Given the description of an element on the screen output the (x, y) to click on. 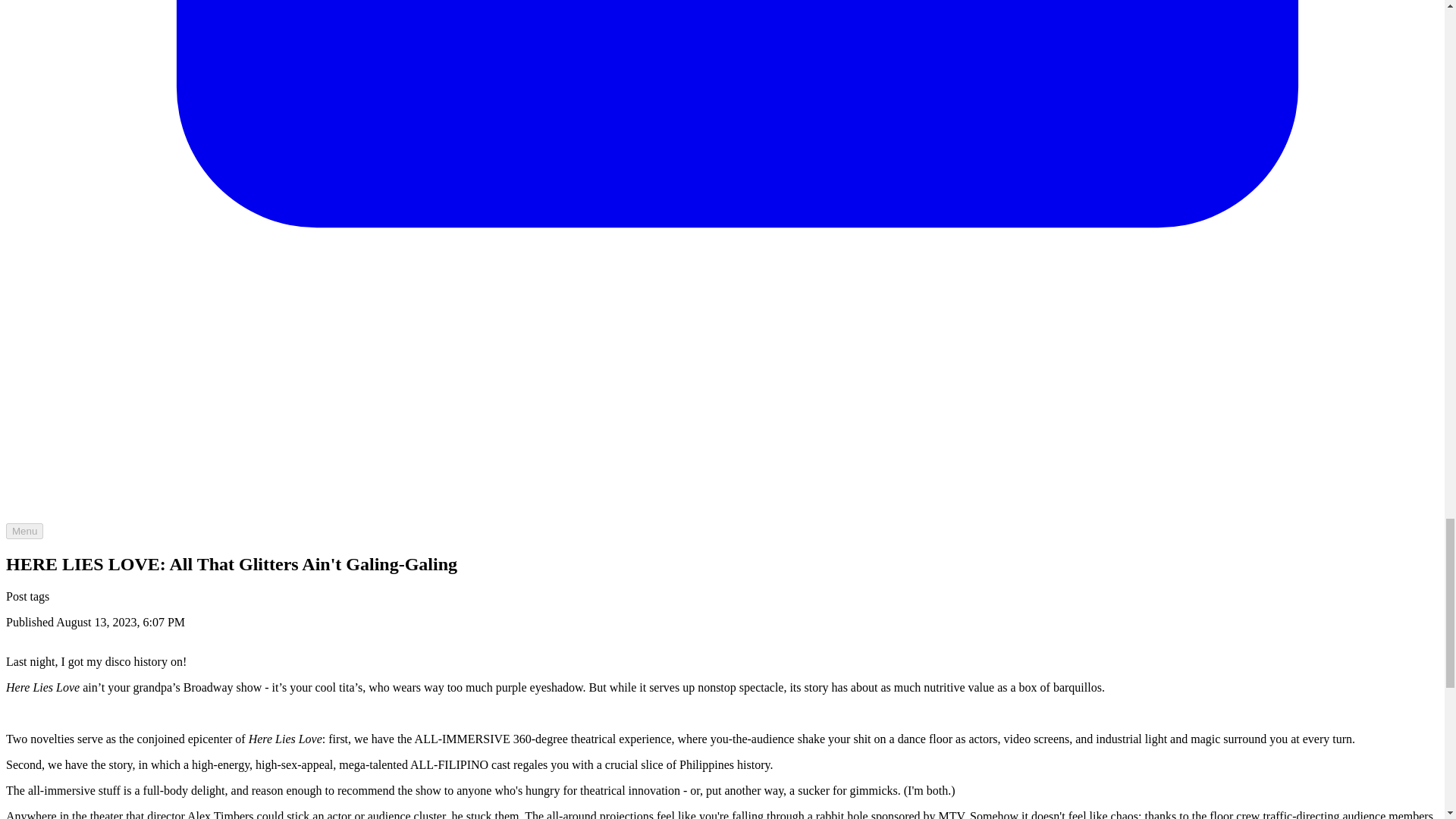
Menu (24, 530)
